Given the description of an element on the screen output the (x, y) to click on. 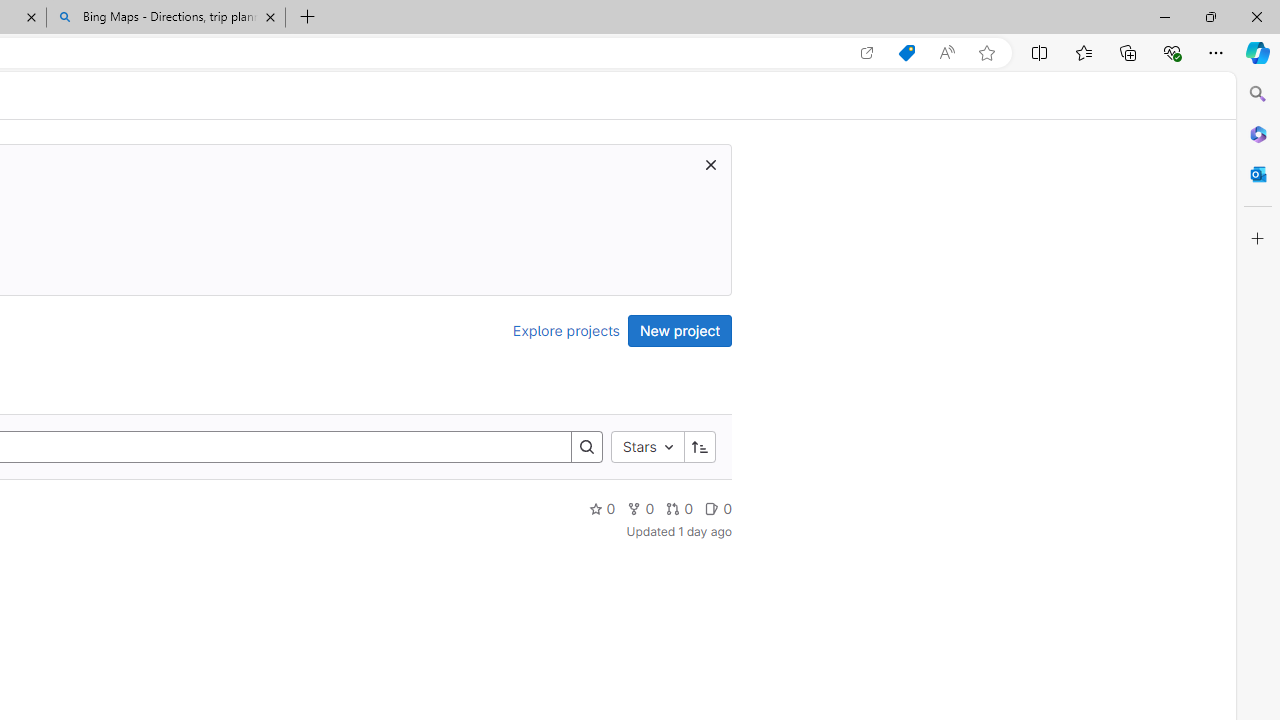
Dismiss trial promotion (710, 164)
Explore projects (565, 330)
Stars (647, 445)
Sort direction: Ascending (699, 445)
Class: s16 gl-icon gl-button-icon  (710, 164)
